Given the description of an element on the screen output the (x, y) to click on. 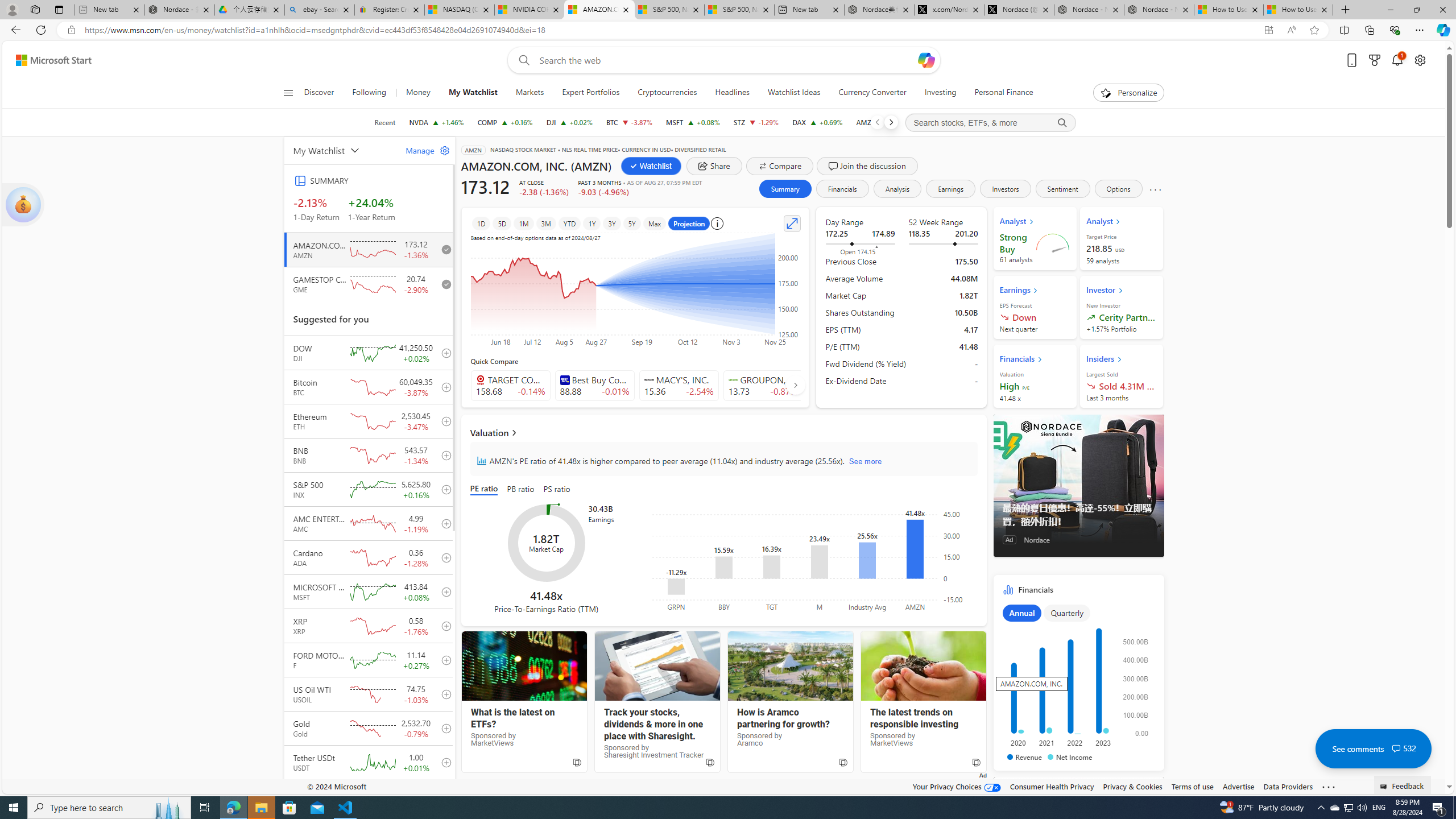
Investors (1004, 188)
Class: card_head_icon_lightMode-DS-EntryPoint1-1 (1119, 358)
Personalize (1128, 92)
Open navigation menu (287, 92)
share dialog (713, 166)
Expert Portfolios (590, 92)
Quarterly (1066, 612)
My Watchlist (341, 150)
Next (890, 122)
Skip to footer (46, 59)
